Given the description of an element on the screen output the (x, y) to click on. 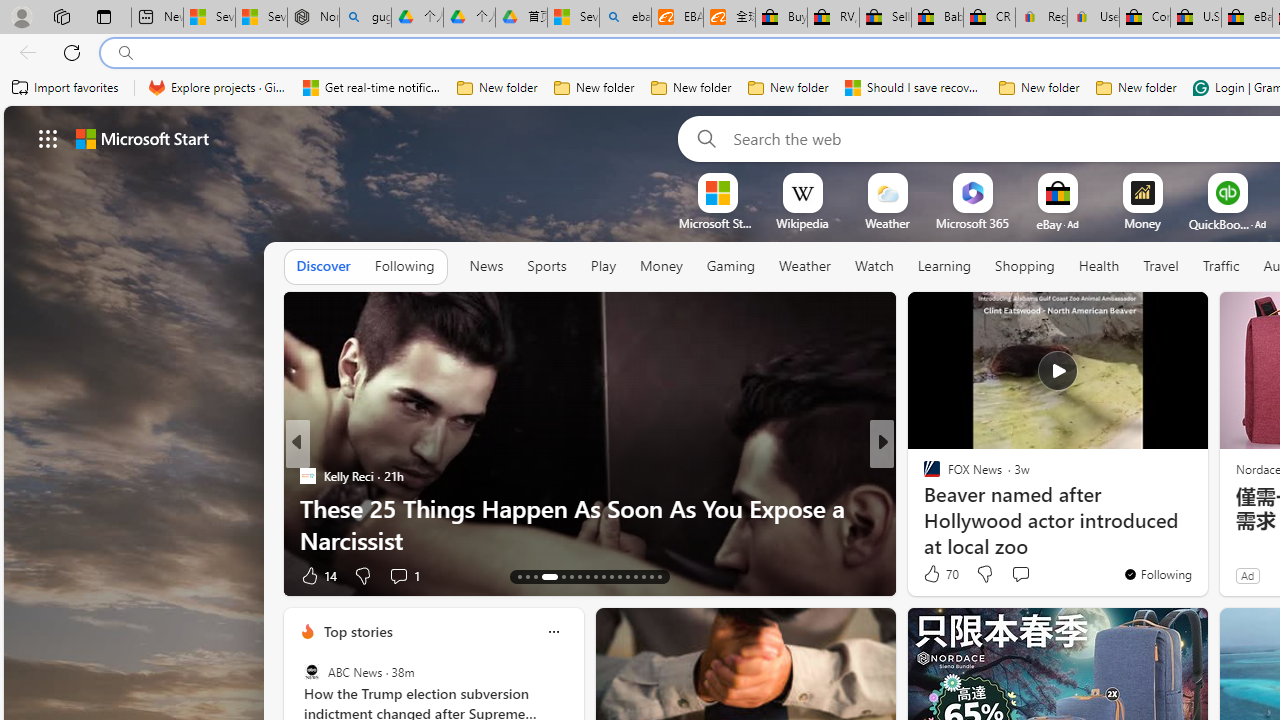
AutomationID: tab-24 (619, 576)
New folder (1136, 88)
View comments 24 Comment (1019, 575)
SheBudgets (923, 507)
AutomationID: tab-23 (610, 576)
